Given the description of an element on the screen output the (x, y) to click on. 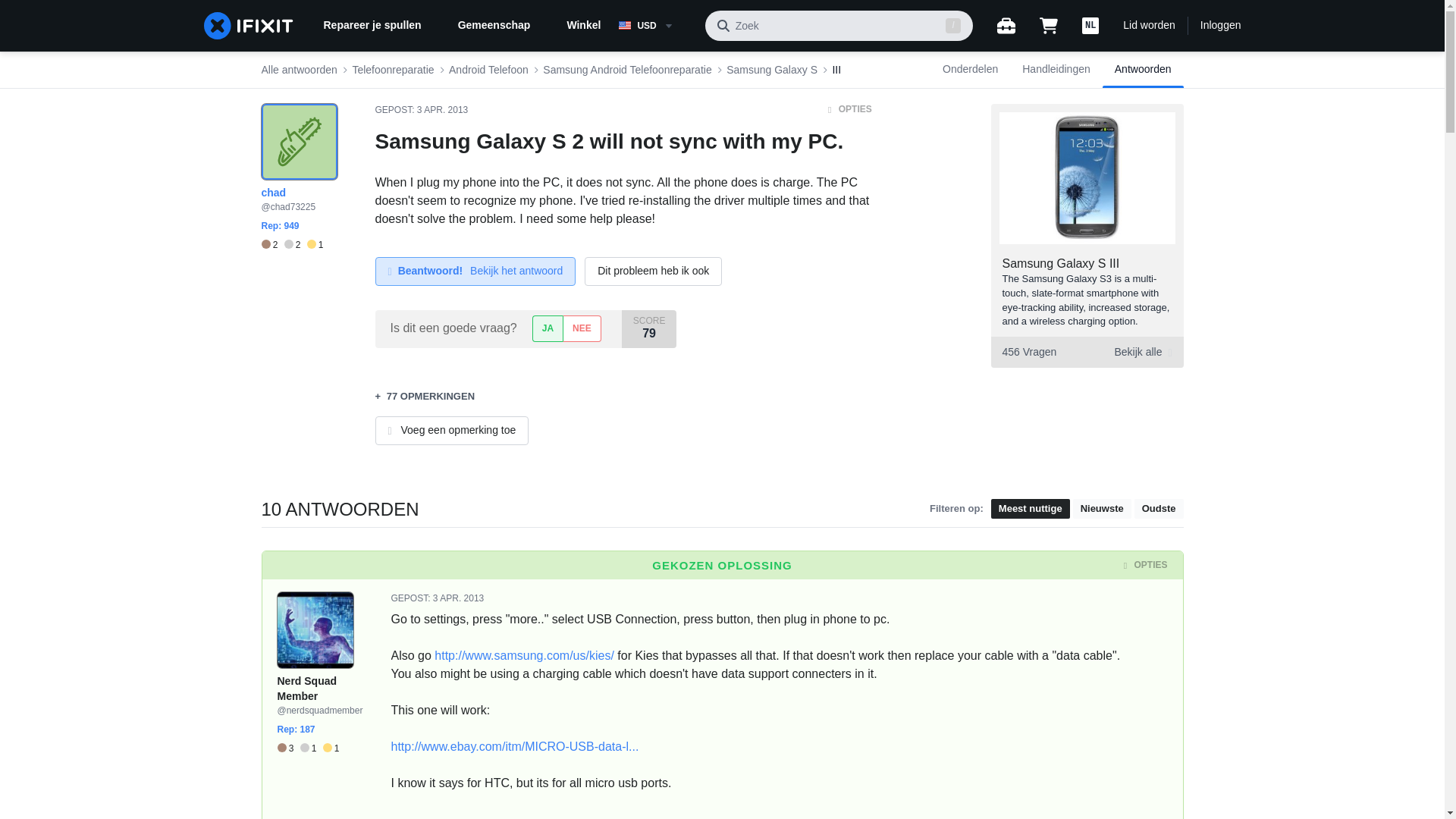
Samsung Galaxy S (771, 69)
Wed, 03 Apr 2013 09:36:23 -0700 (457, 597)
Wed, 03 Apr 2013 04:53:11 -0700 (441, 109)
Telefoonreparatie (392, 69)
2 Brons badges (271, 245)
1 Goud badges (315, 245)
2 2 1 (291, 245)
Alle antwoorden (298, 69)
3 Brons badges (288, 748)
Android Telefoon (488, 69)
Samsung Galaxy S III (1061, 263)
Onderdelen (970, 69)
1 Goud badges (331, 748)
GEPOST: 3 APR. 2013 (420, 109)
Lid worden (1148, 25)
